Given the description of an element on the screen output the (x, y) to click on. 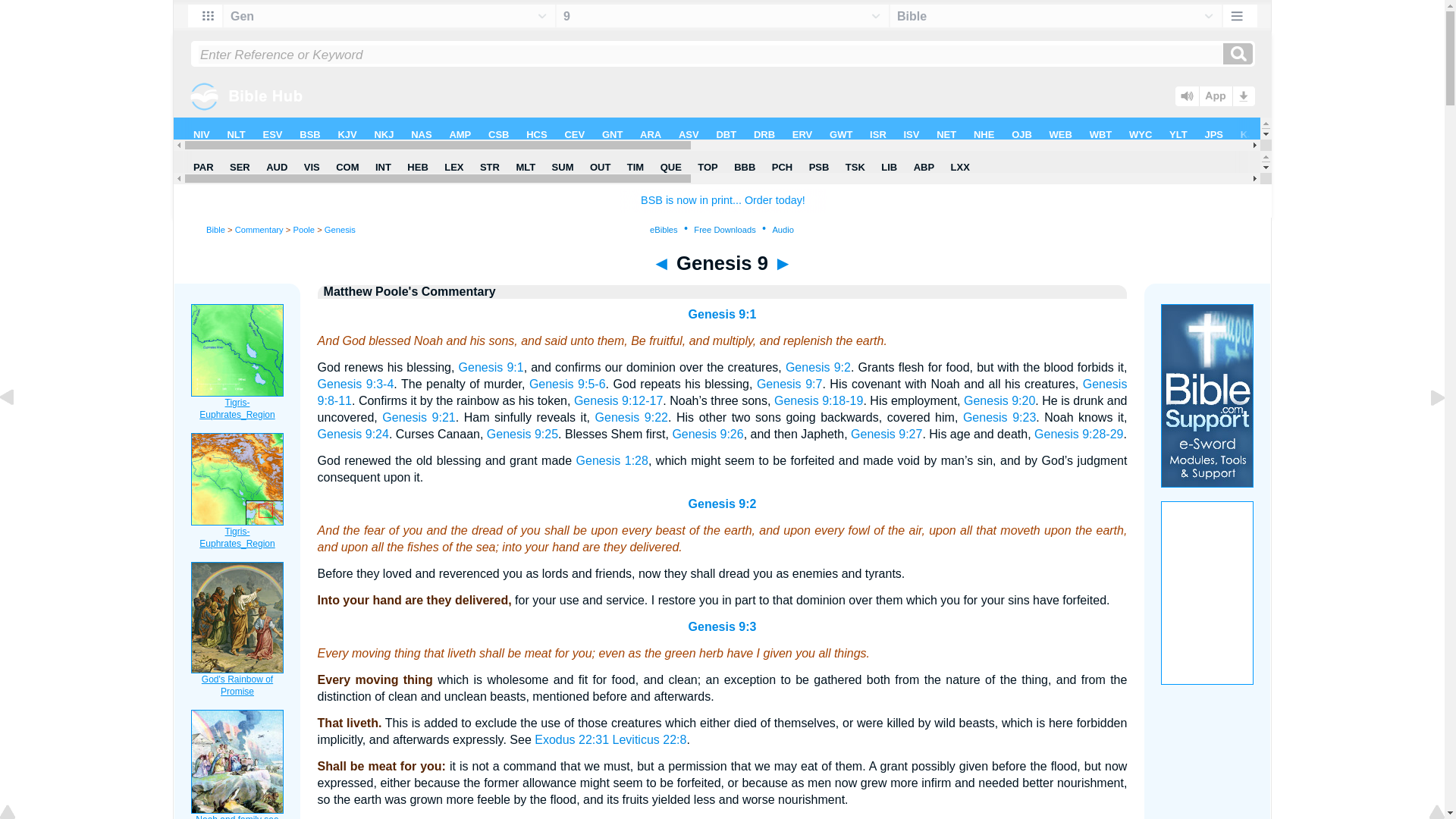
Genesis 1:28 (611, 460)
Genesis (339, 229)
Genesis 9:27 (885, 433)
Genesis 9:20 (999, 400)
Genesis 9:23 (998, 417)
Genesis 9:18-19 (818, 400)
Genesis 9:5-6 (567, 383)
Genesis 8 (661, 262)
Genesis 9:22 (631, 417)
Genesis 9:26 (706, 433)
Genesis 9:3 (722, 626)
Genesis 9:12-17 (617, 400)
